Given the description of an element on the screen output the (x, y) to click on. 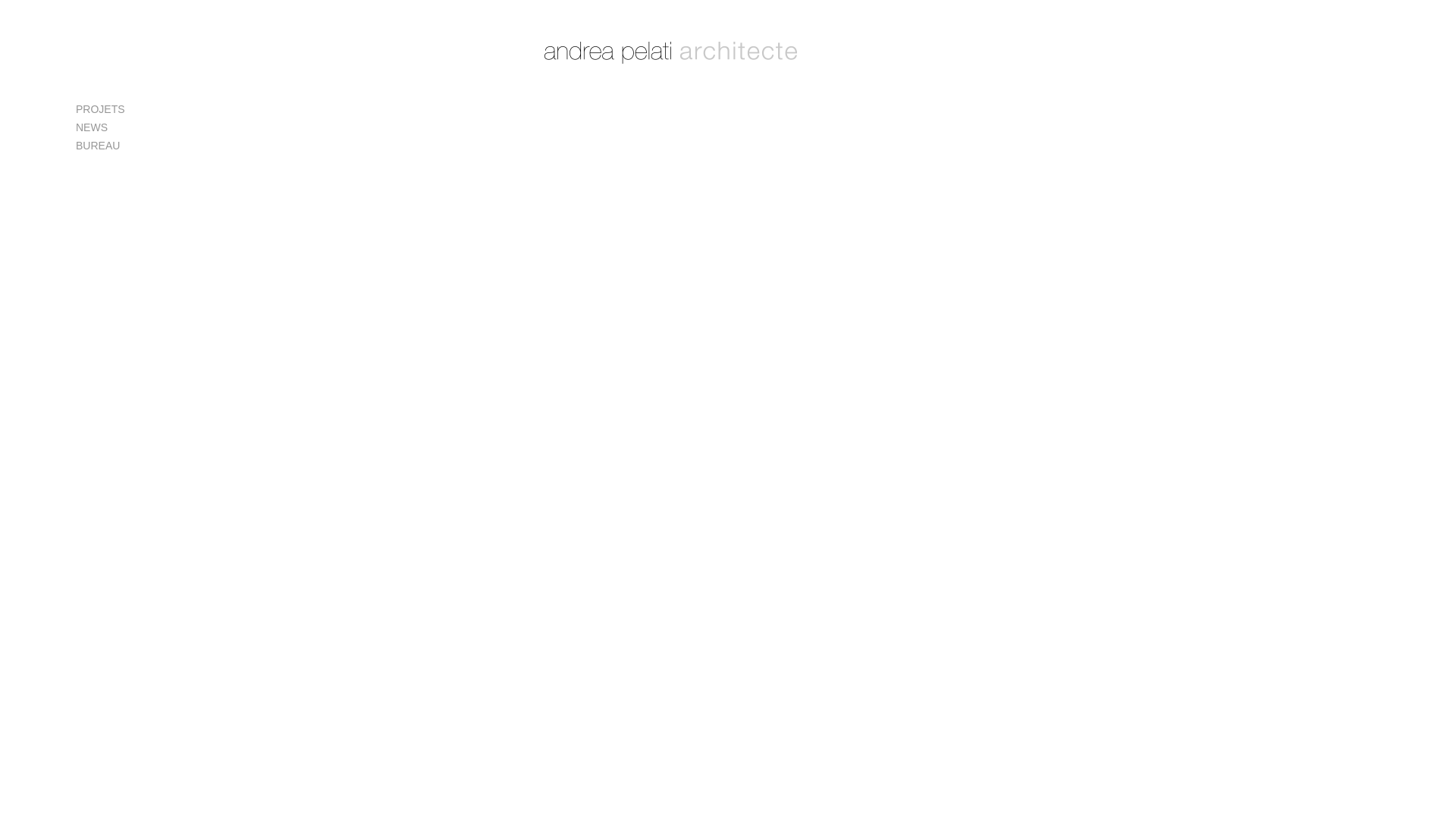
NEWS Element type: text (134, 127)
BUREAU Element type: text (134, 145)
PROJETS Element type: text (134, 109)
